Given the description of an element on the screen output the (x, y) to click on. 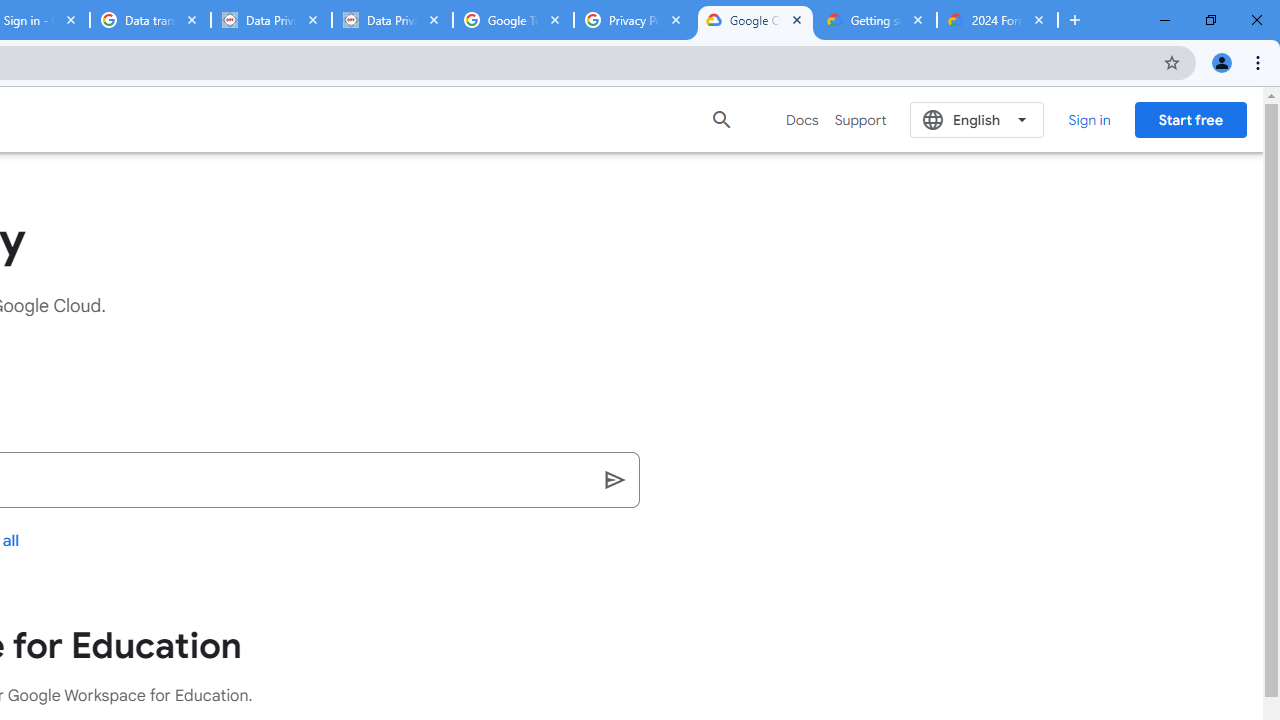
Data Privacy Framework (392, 20)
Data Privacy Framework (271, 20)
Docs (802, 119)
Support (860, 119)
